Given the description of an element on the screen output the (x, y) to click on. 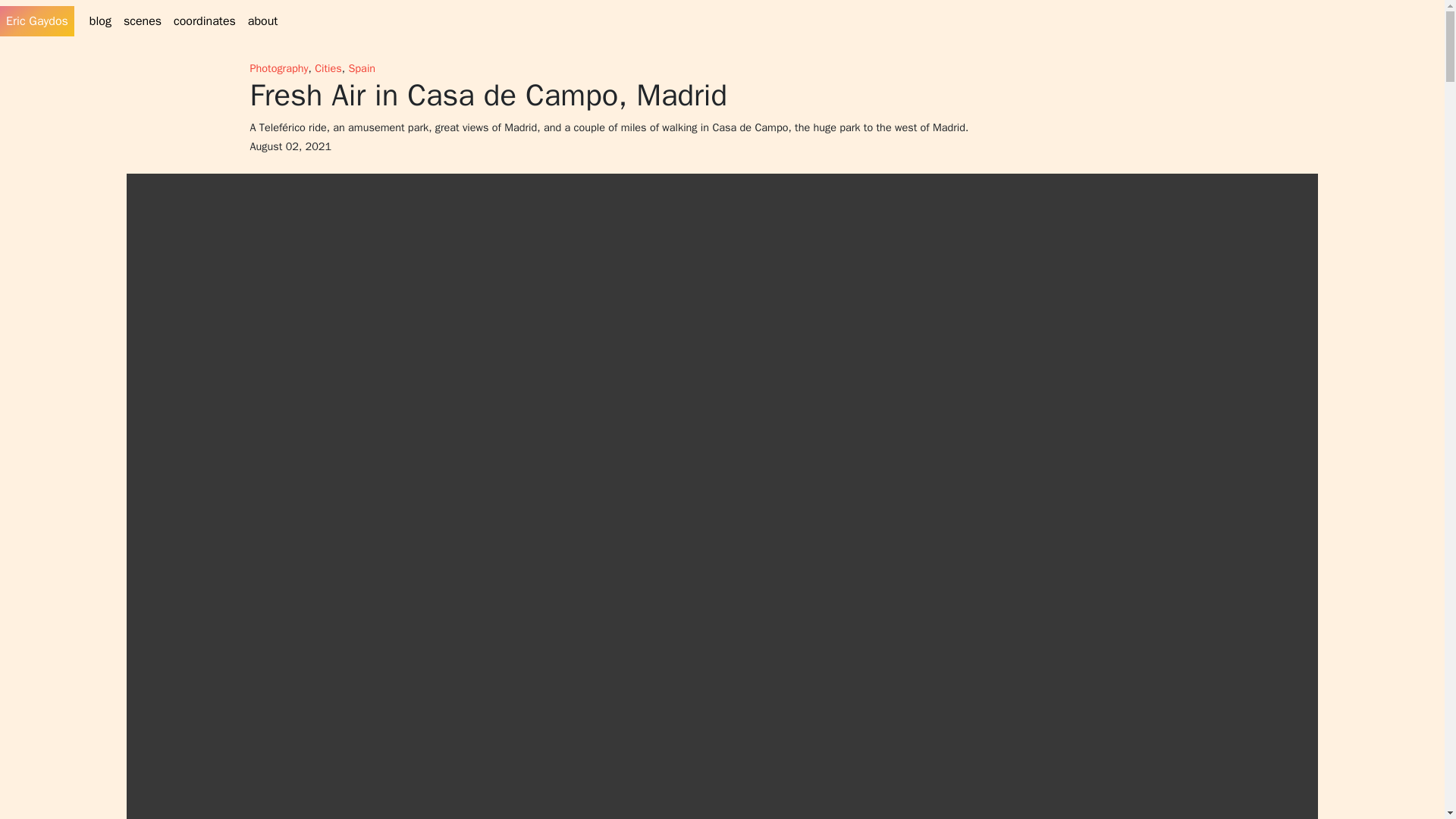
Eric Gaydos (36, 20)
blog (99, 20)
Cities (328, 68)
scenes (142, 20)
Photography (279, 68)
Spain (361, 68)
about (262, 20)
coordinates (204, 20)
